Given the description of an element on the screen output the (x, y) to click on. 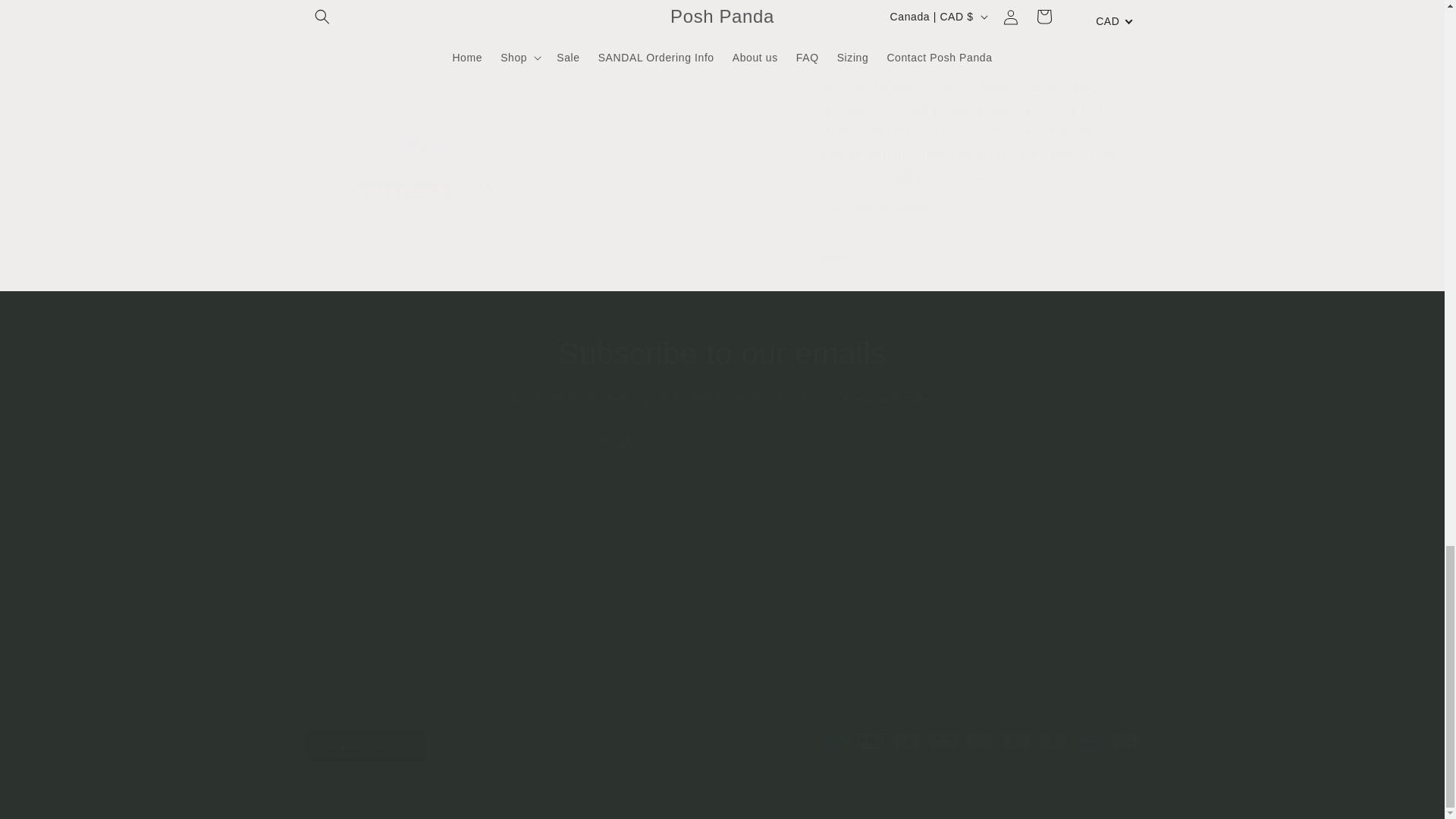
Email (722, 443)
Subscribe to our emails (721, 353)
Open media 10 in modal (415, 48)
